Given the description of an element on the screen output the (x, y) to click on. 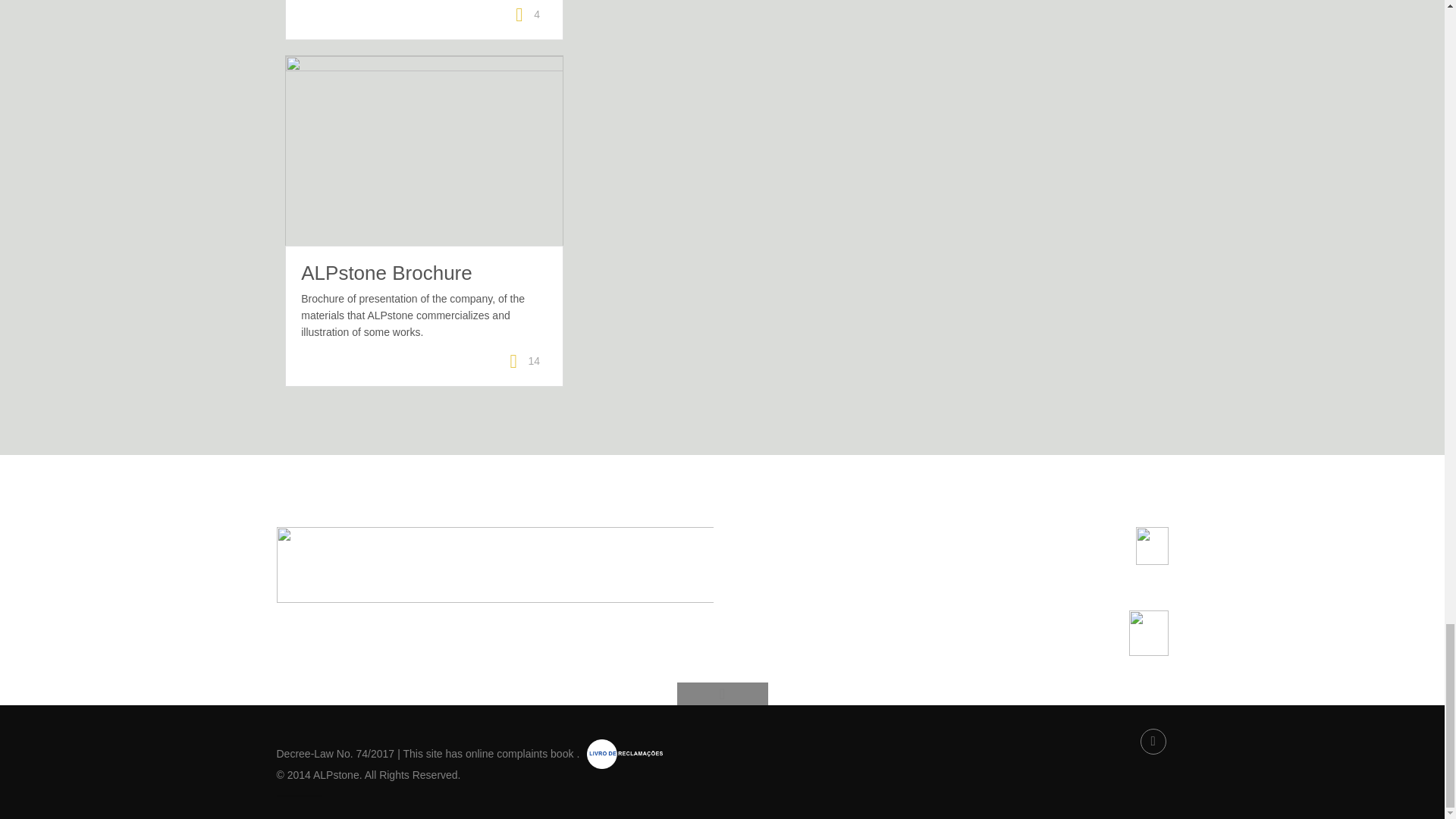
Facebook (1153, 741)
